Given the description of an element on the screen output the (x, y) to click on. 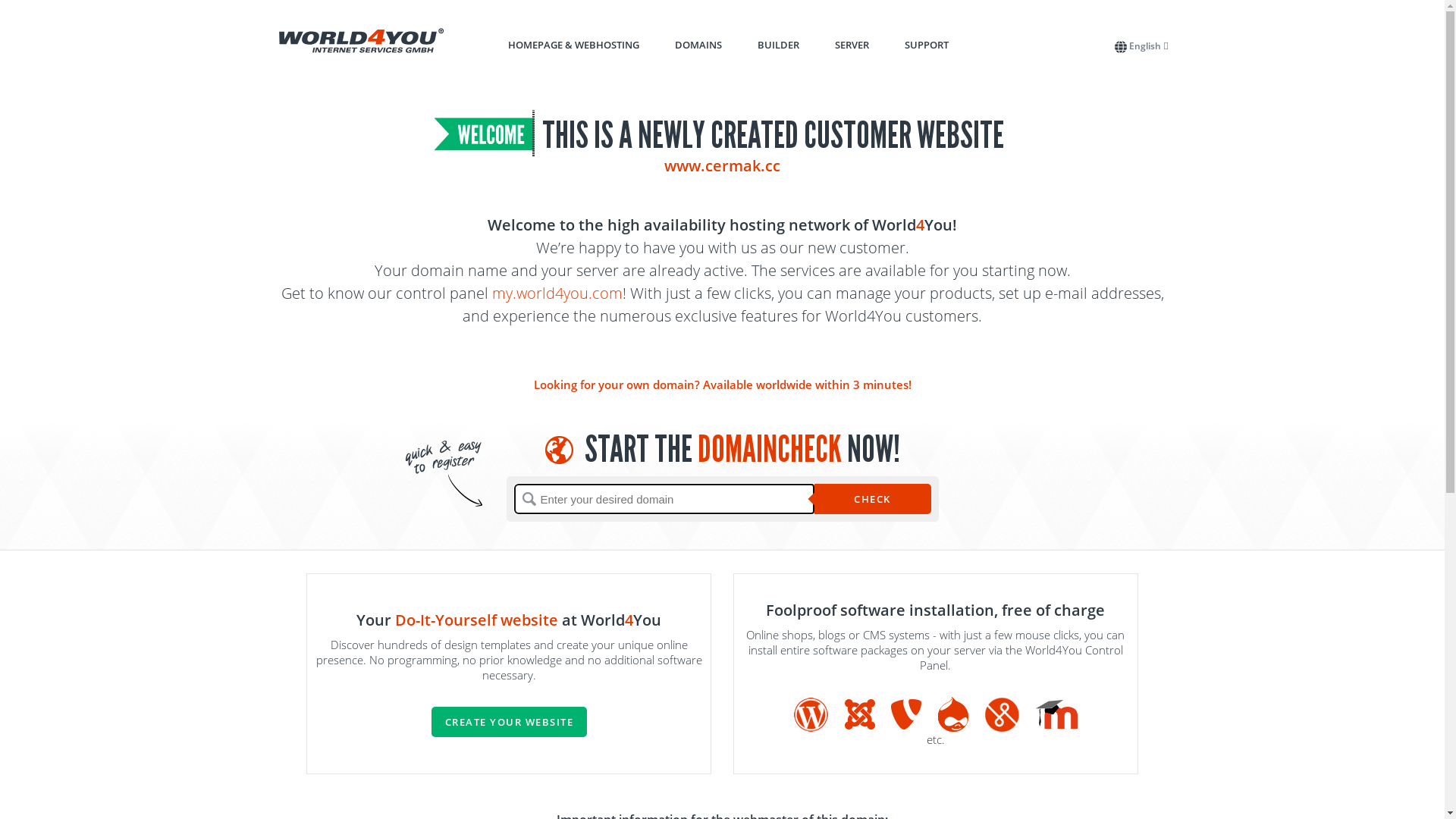
HOMEPAGE & WEBHOSTING Element type: text (573, 44)
SERVER Element type: text (851, 44)
SUPPORT Element type: text (925, 44)
DOMAINS Element type: text (697, 44)
BUILDER Element type: text (777, 44)
CHECK Element type: text (872, 498)
To the World4You Homepage Element type: hover (361, 40)
CREATE YOUR WEBSITE Element type: text (508, 721)
my.world4you.com Element type: text (556, 292)
